Given the description of an element on the screen output the (x, y) to click on. 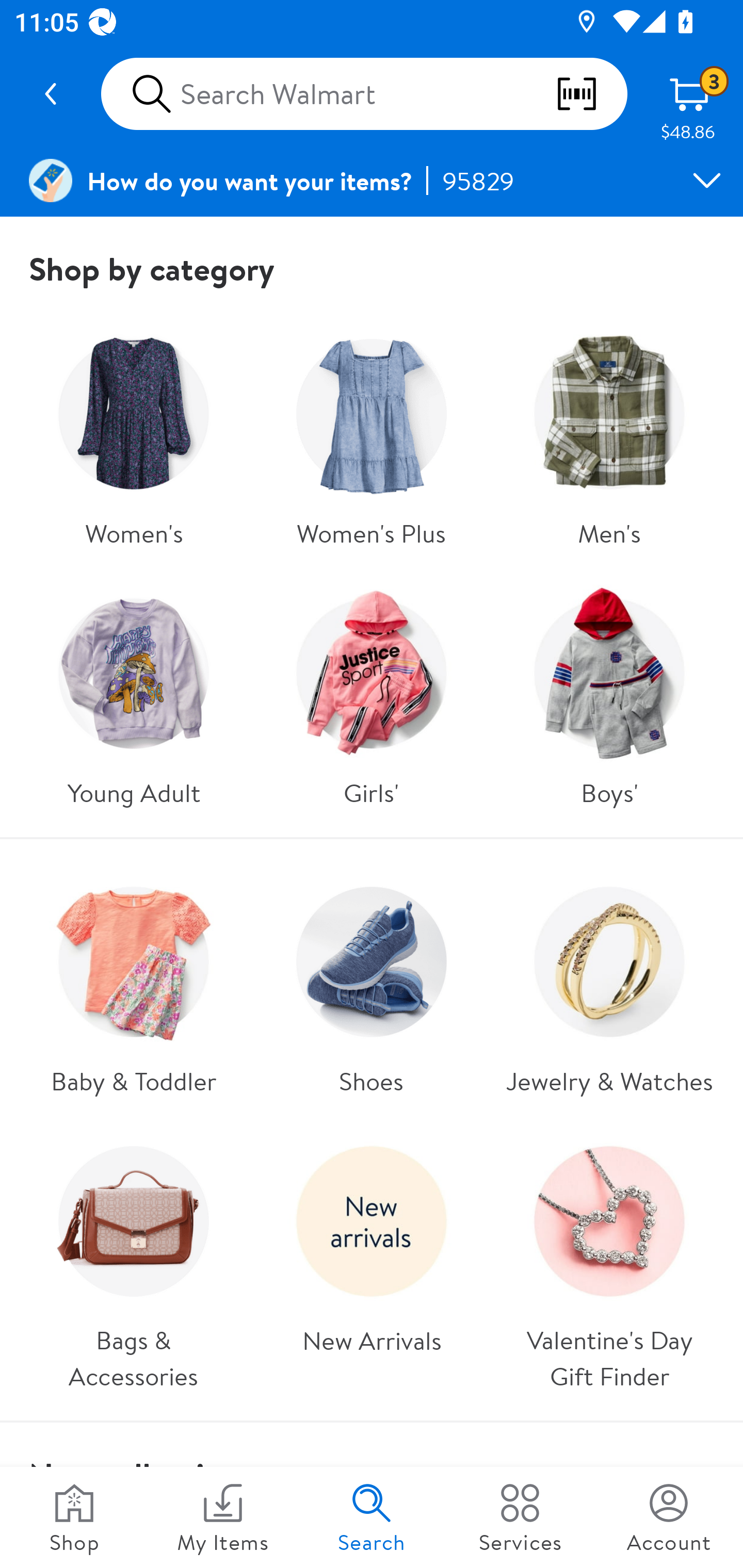
Navigate up (50, 93)
Search Walmart scan barcodes qr codes and more (364, 94)
scan barcodes qr codes and more (591, 94)
Women's (132, 434)
Women's Plus (370, 434)
Men's (609, 434)
Young Adult (132, 695)
Girls' (370, 695)
Boys' (609, 695)
Baby & Toddler (132, 983)
Shoes (370, 983)
Jewelry & Watches (609, 983)
Bags & Accessories (132, 1260)
New Arrivals (370, 1260)
Valentine's Day Gift Finder (609, 1260)
Shop (74, 1517)
My Items (222, 1517)
Services (519, 1517)
Account (668, 1517)
